Given the description of an element on the screen output the (x, y) to click on. 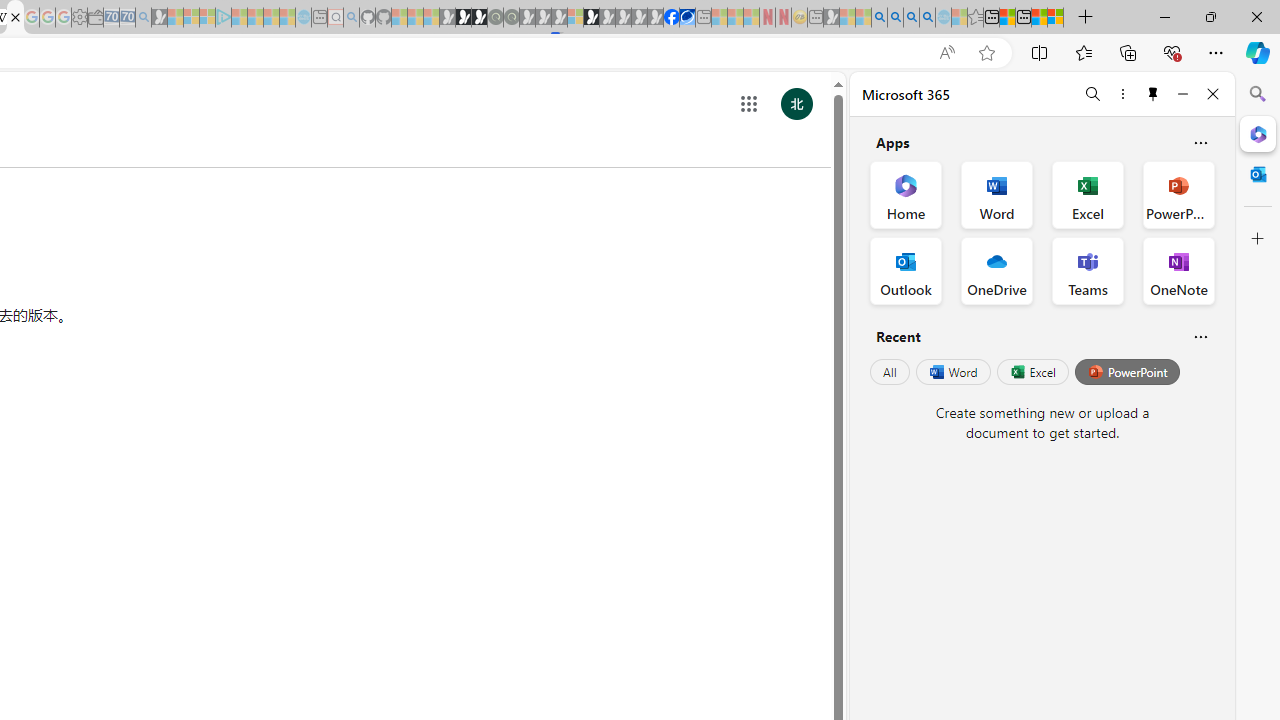
Class: gb_E (749, 103)
OneDrive Office App (996, 270)
Nordace | Facebook (671, 17)
